Given the description of an element on the screen output the (x, y) to click on. 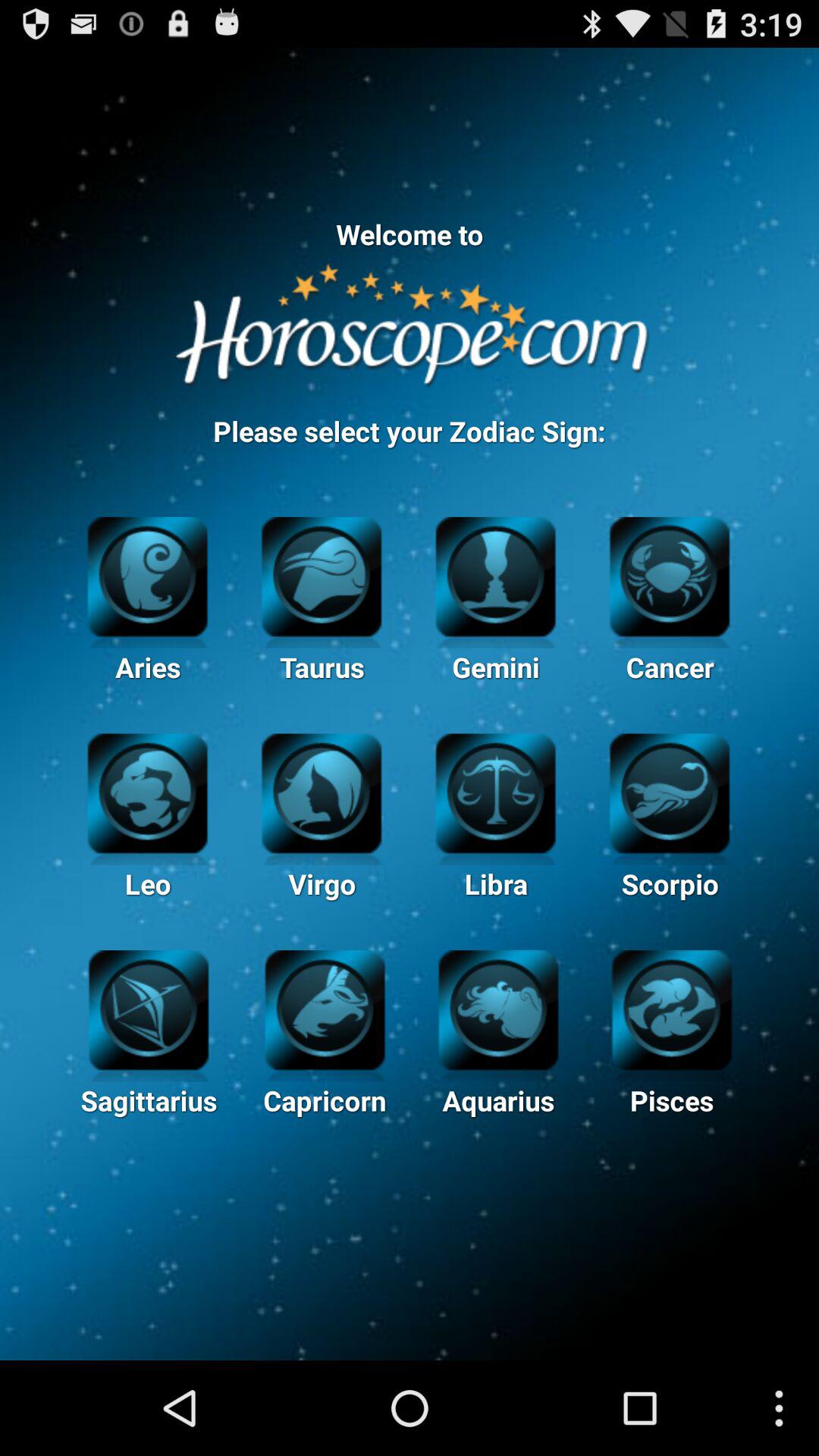
aries (147, 574)
